Given the description of an element on the screen output the (x, y) to click on. 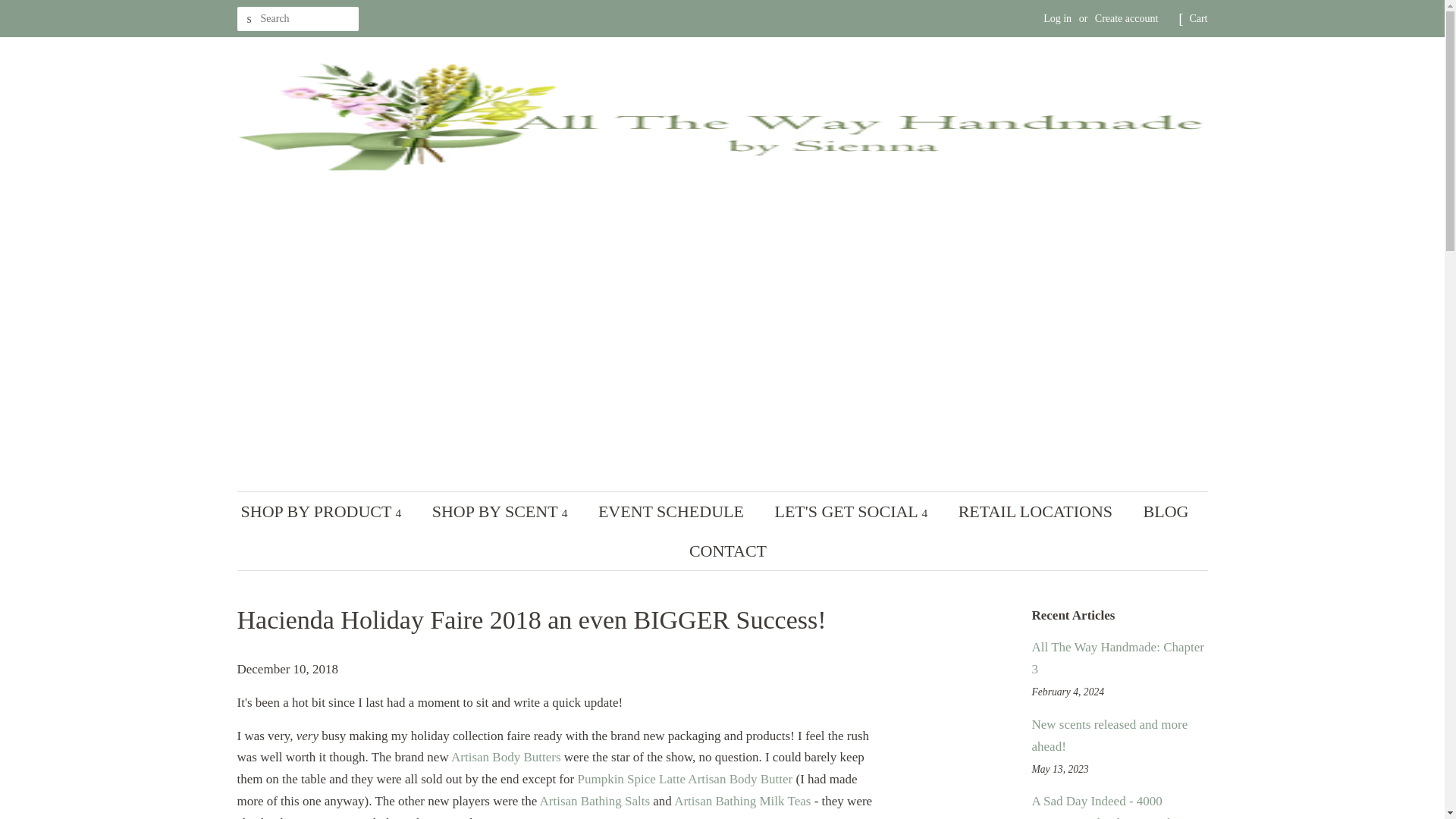
Create account (1126, 18)
SEARCH (247, 18)
Log in (1057, 18)
Cart (1198, 18)
